Given the description of an element on the screen output the (x, y) to click on. 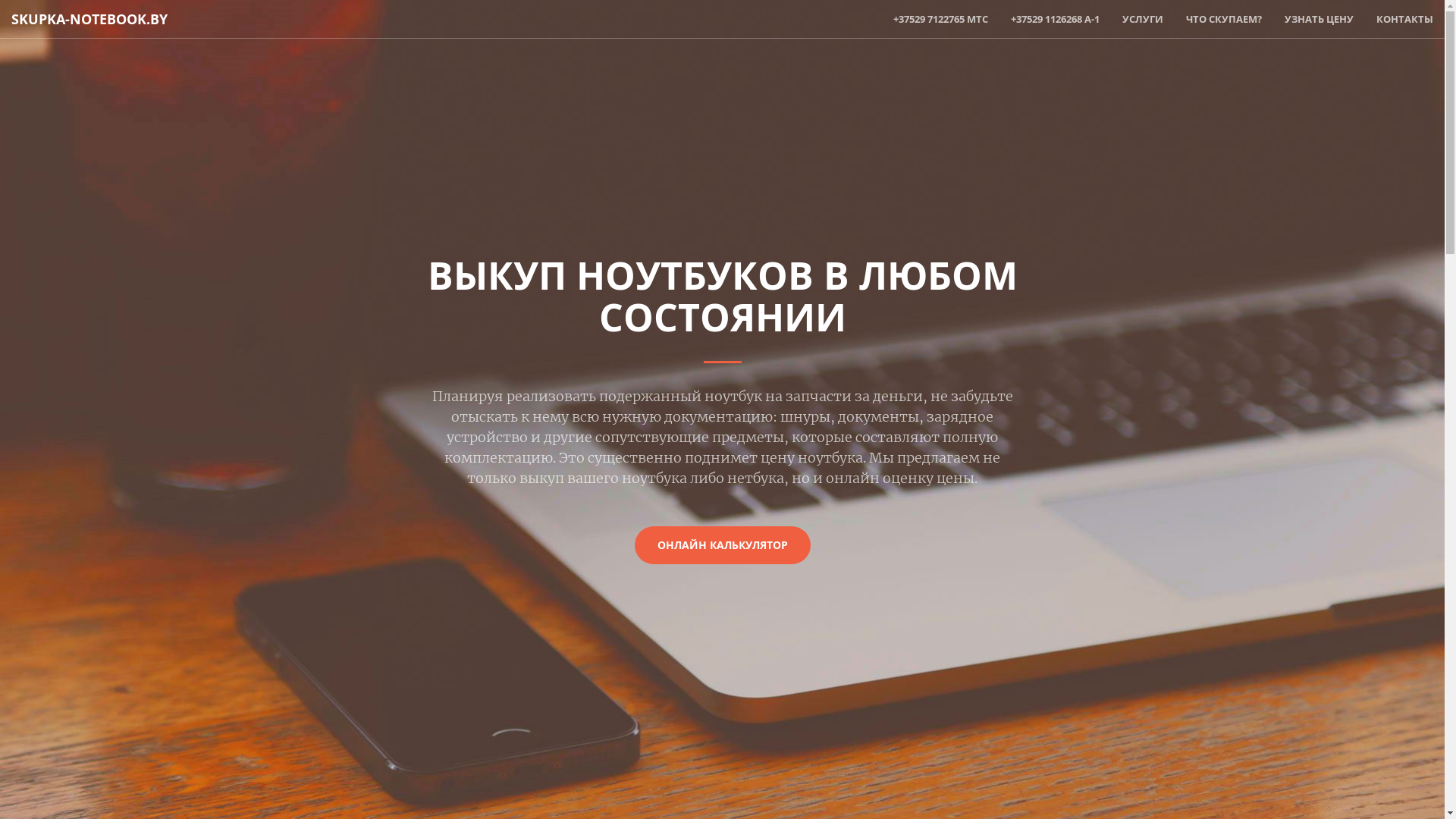
SKUPKA-NOTEBOOK.BY Element type: text (89, 18)
